Given the description of an element on the screen output the (x, y) to click on. 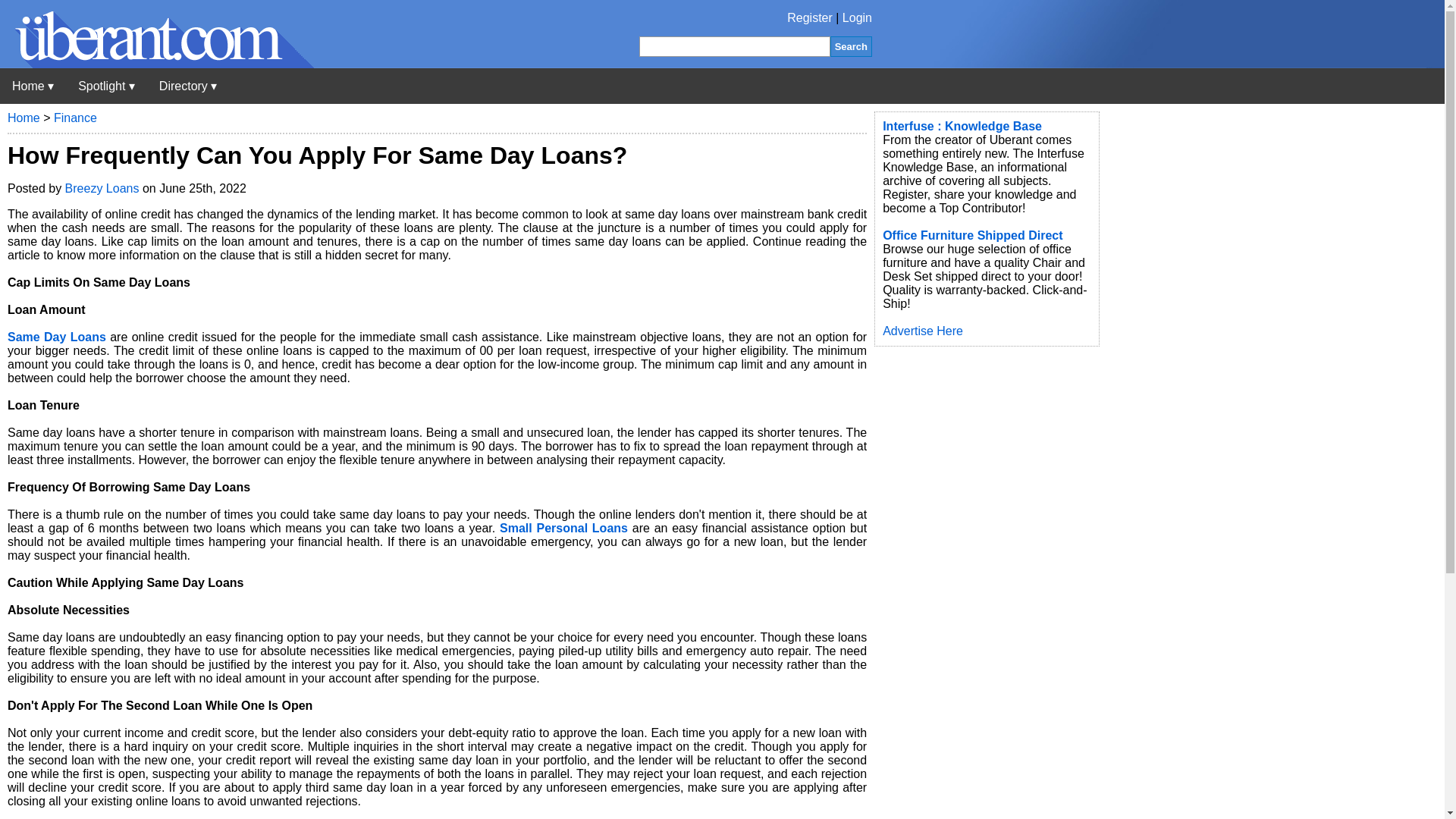
Login (857, 17)
Register (809, 17)
Uberant (32, 85)
Search (850, 46)
Uberant (157, 63)
Search (850, 46)
